Given the description of an element on the screen output the (x, y) to click on. 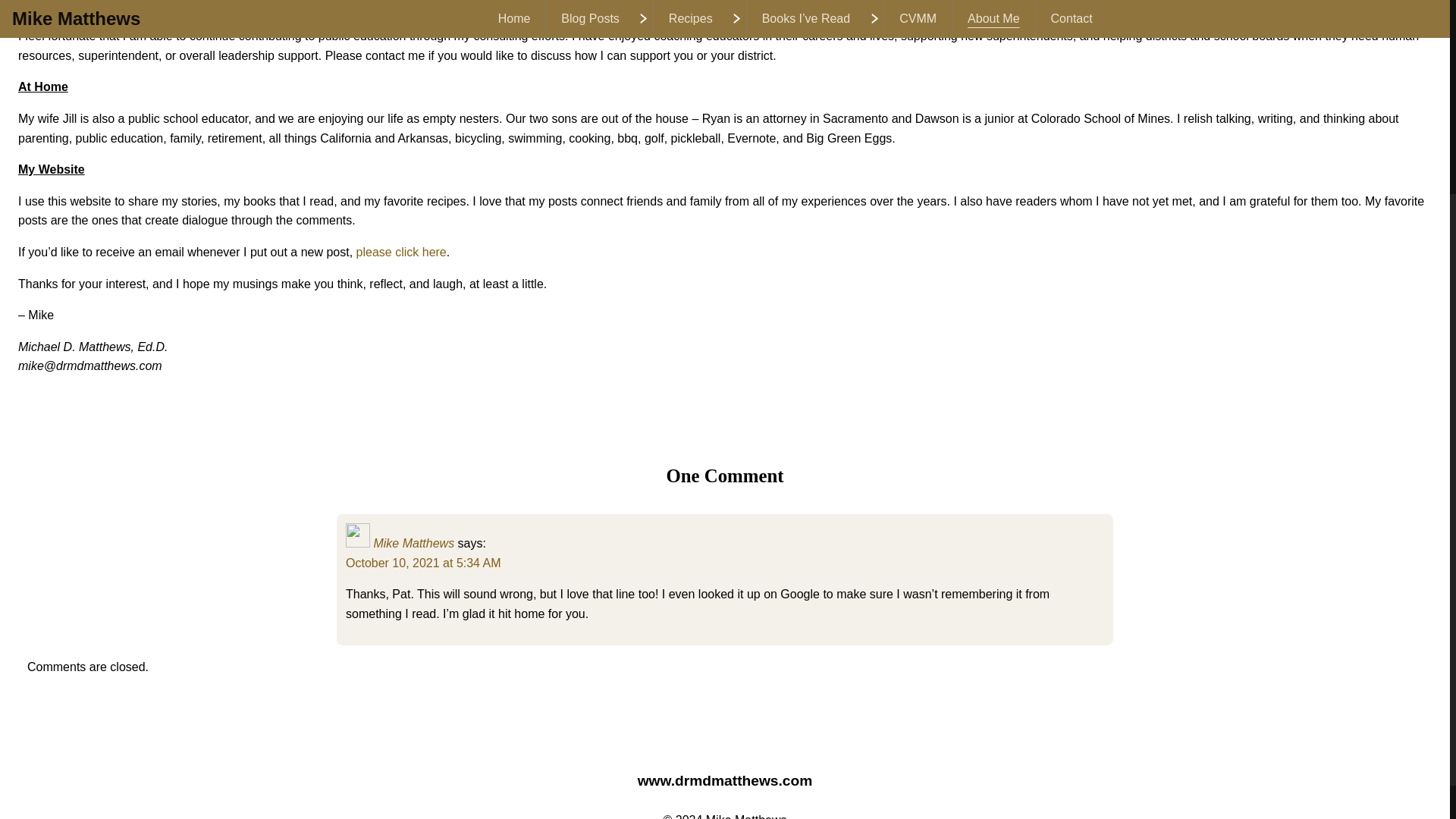
October 10, 2021 at 5:34 AM (423, 562)
please click here (401, 251)
Mike Matthews (413, 543)
